Given the description of an element on the screen output the (x, y) to click on. 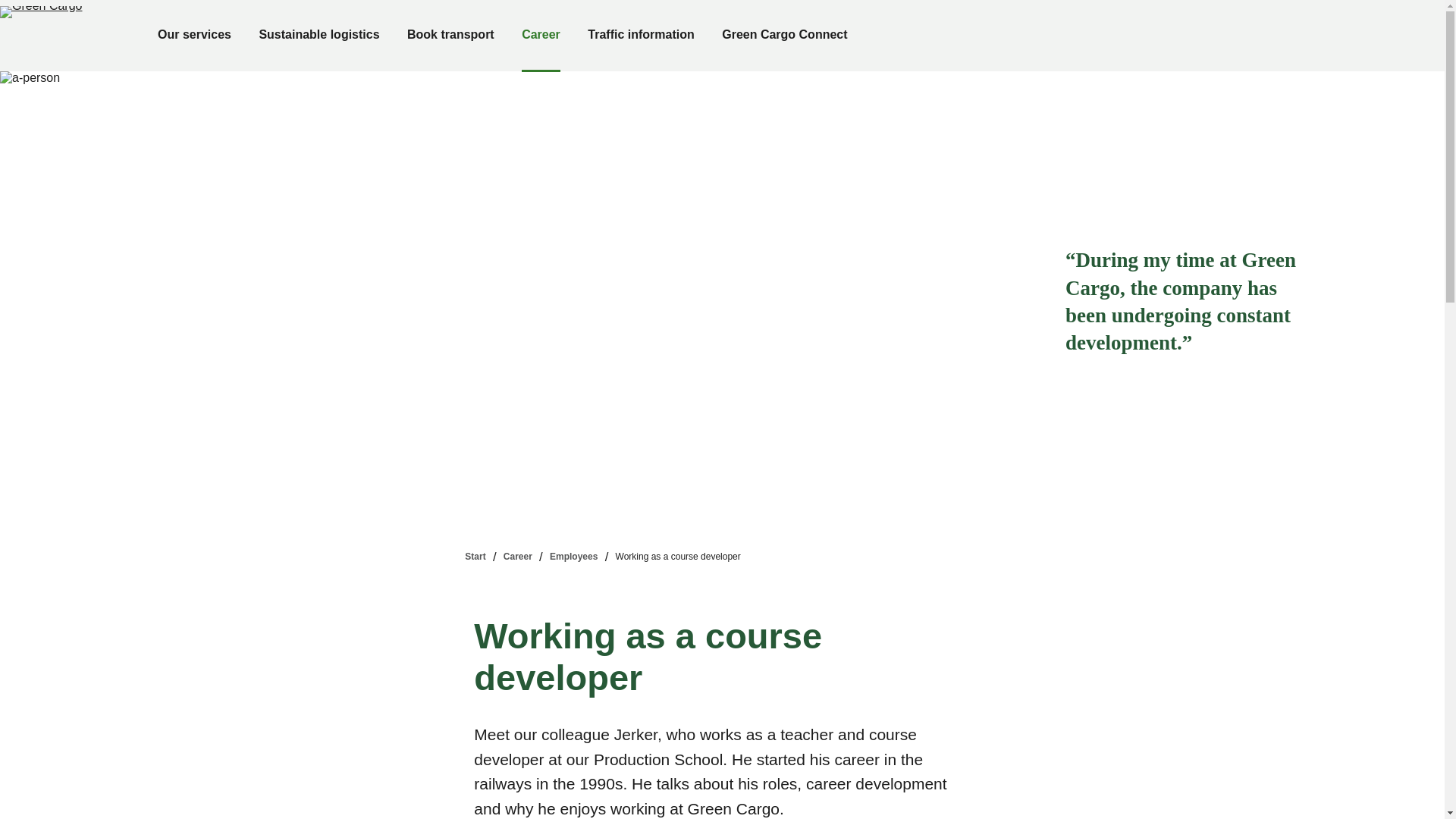
Career (540, 36)
Back to the startpage of Green Cargo (60, 35)
Book transport (450, 36)
Sustainable logistics (318, 36)
Green Cargo Connect (784, 36)
Our services (194, 36)
Traffic information (640, 36)
